Given the description of an element on the screen output the (x, y) to click on. 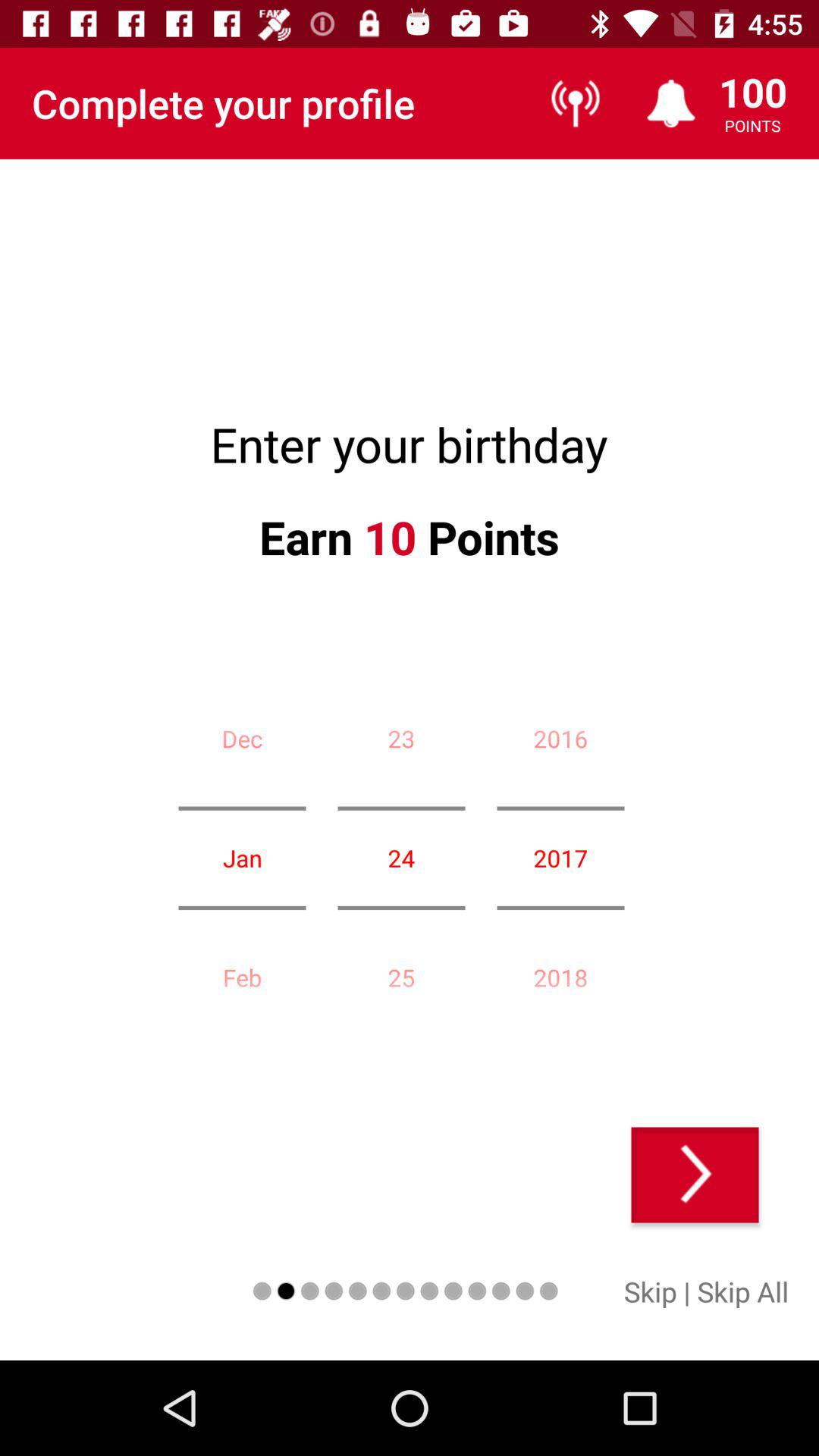
click on icon beside bell symbol (575, 103)
select the text 2017 (560, 858)
click on the skip all (742, 1291)
